Given the description of an element on the screen output the (x, y) to click on. 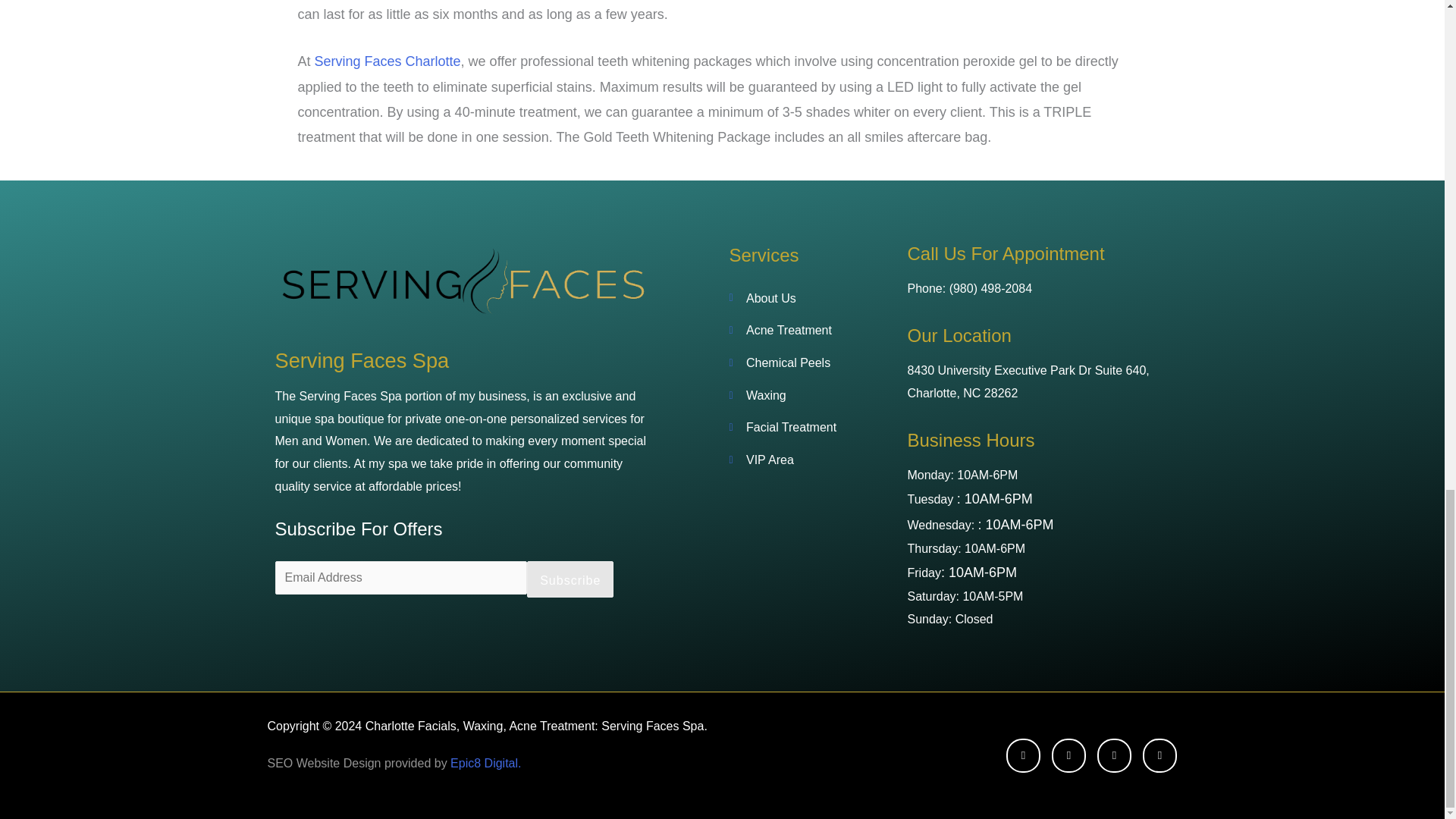
Serving Faces Charlotte (387, 61)
